Given the description of an element on the screen output the (x, y) to click on. 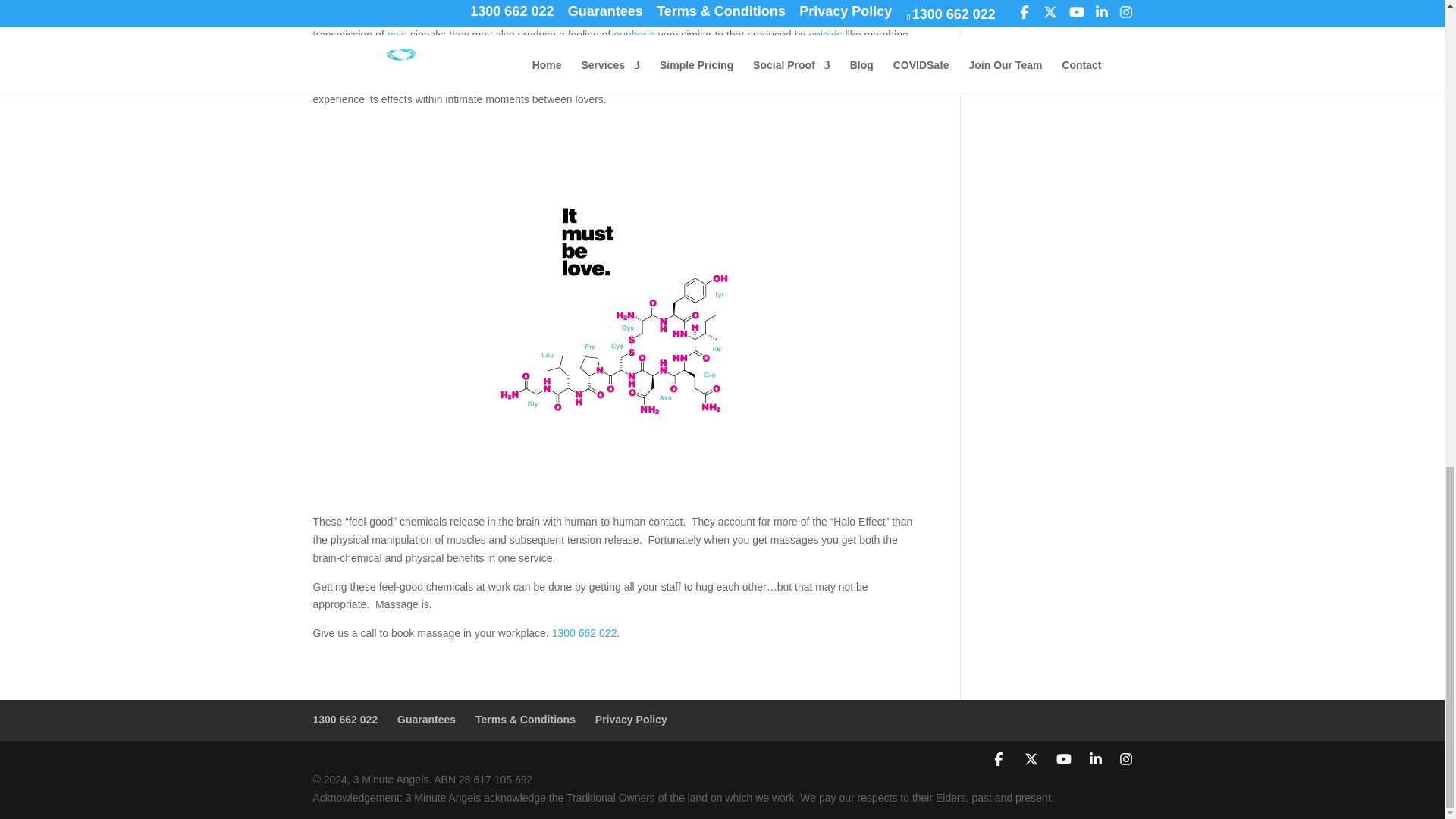
Pain (397, 34)
Opioids (824, 34)
Euphoria (633, 34)
